Given the description of an element on the screen output the (x, y) to click on. 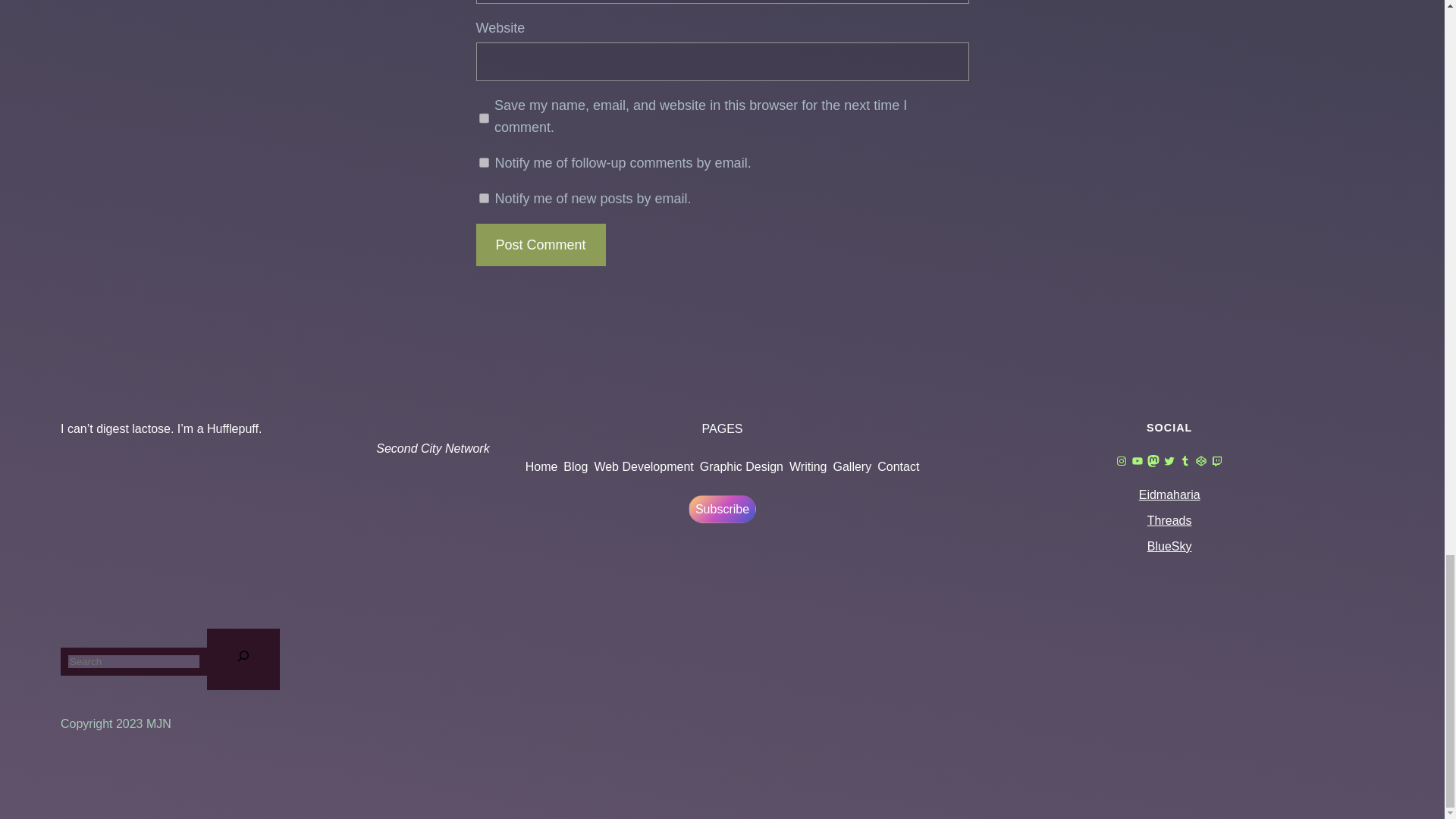
subscribe (484, 198)
subscribe (484, 162)
Post Comment (540, 244)
